Given the description of an element on the screen output the (x, y) to click on. 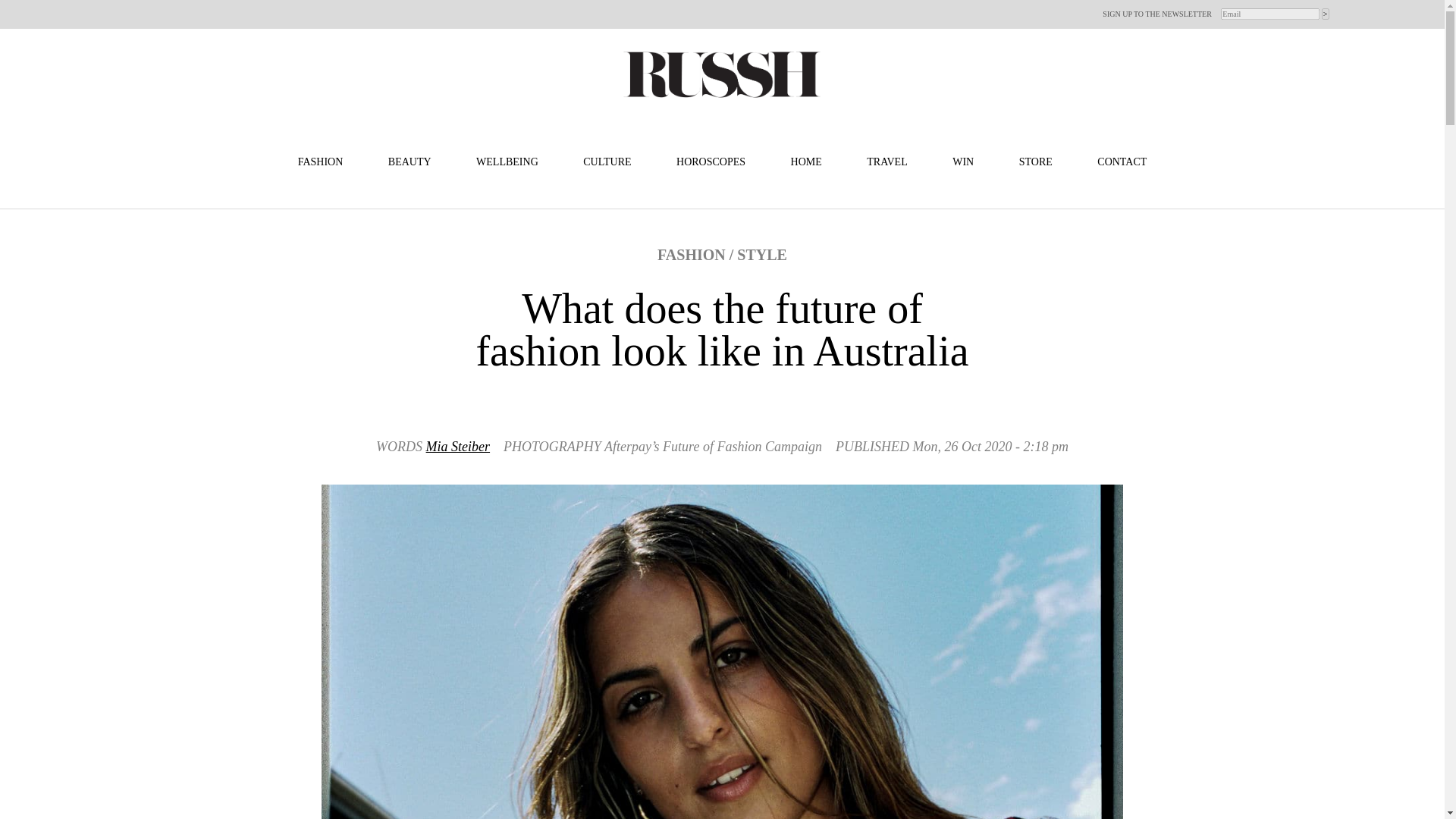
BEAUTY (409, 161)
FASHION (320, 161)
WELLBEING (507, 161)
CULTURE (606, 161)
